Given the description of an element on the screen output the (x, y) to click on. 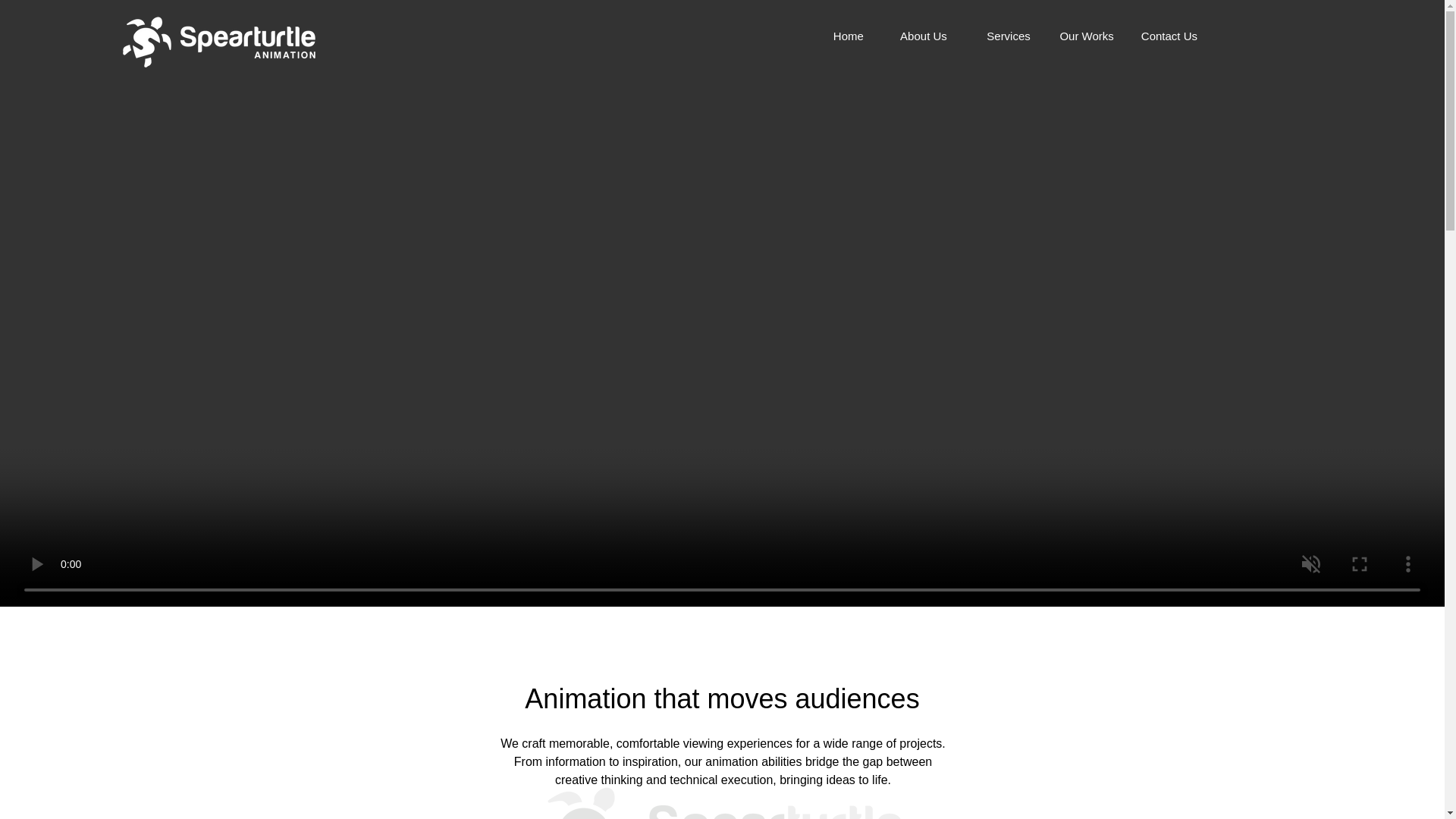
Contact Us (1168, 36)
Home (835, 36)
Our Works (1084, 36)
About Us (918, 36)
Services (1001, 36)
